Given the description of an element on the screen output the (x, y) to click on. 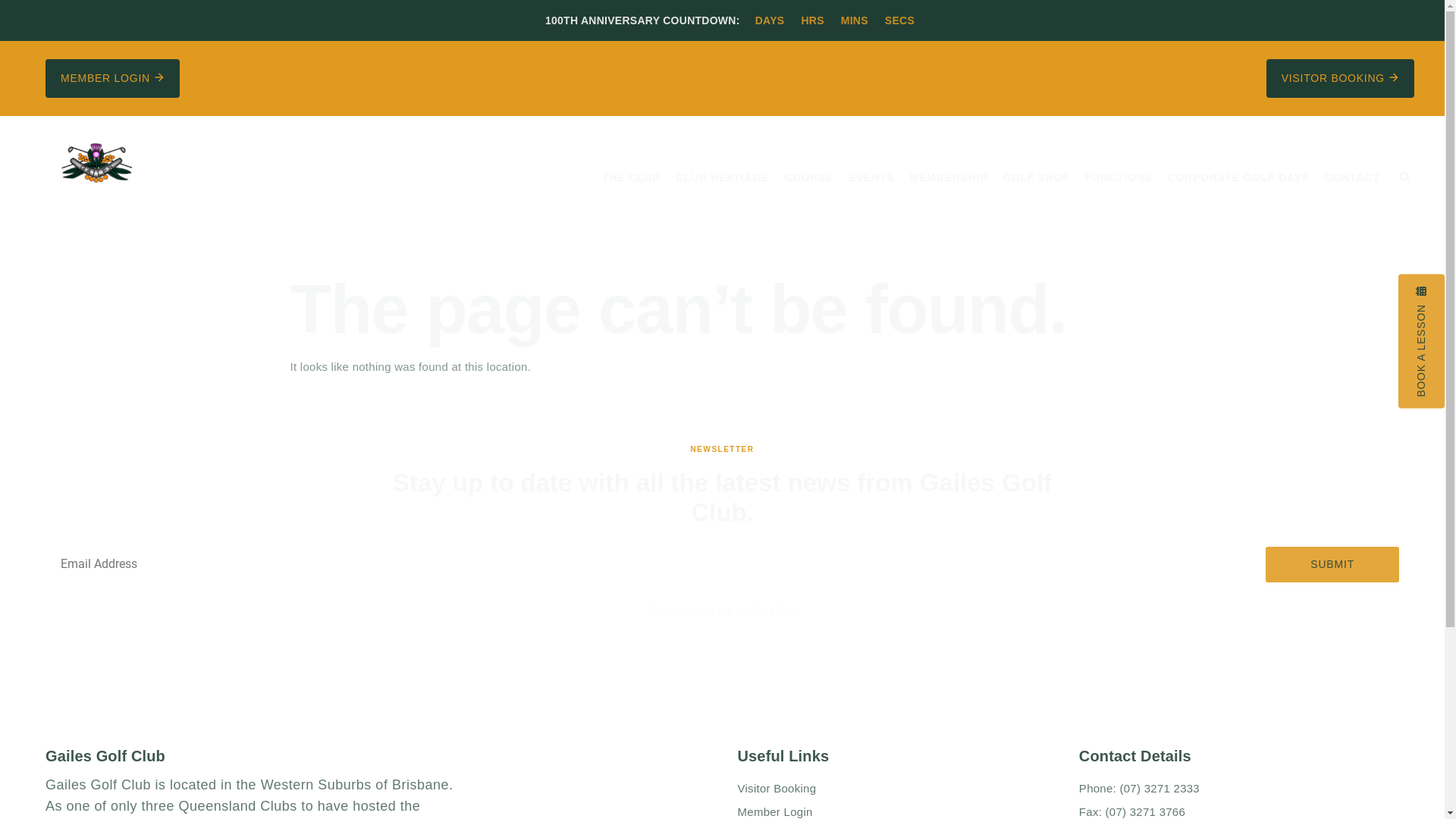
BOOK A LESSON  Element type: text (1421, 341)
Phone: (07) 3271 2333 Element type: text (1232, 790)
GOLF SHOP Element type: text (1036, 177)
CORPORATE GOLF DAYS Element type: text (1238, 177)
EVENTS Element type: text (871, 177)
CLUB HERITAGE Element type: text (722, 177)
THE CLUB Element type: text (631, 177)
Visitor Booking Element type: text (888, 790)
MEMBERSHIP Element type: text (948, 177)
FUNCTIONS Element type: text (1118, 177)
COURSE Element type: text (808, 177)
CONTACT Element type: text (1352, 177)
SUBMIT Element type: text (1332, 564)
